Given the description of an element on the screen output the (x, y) to click on. 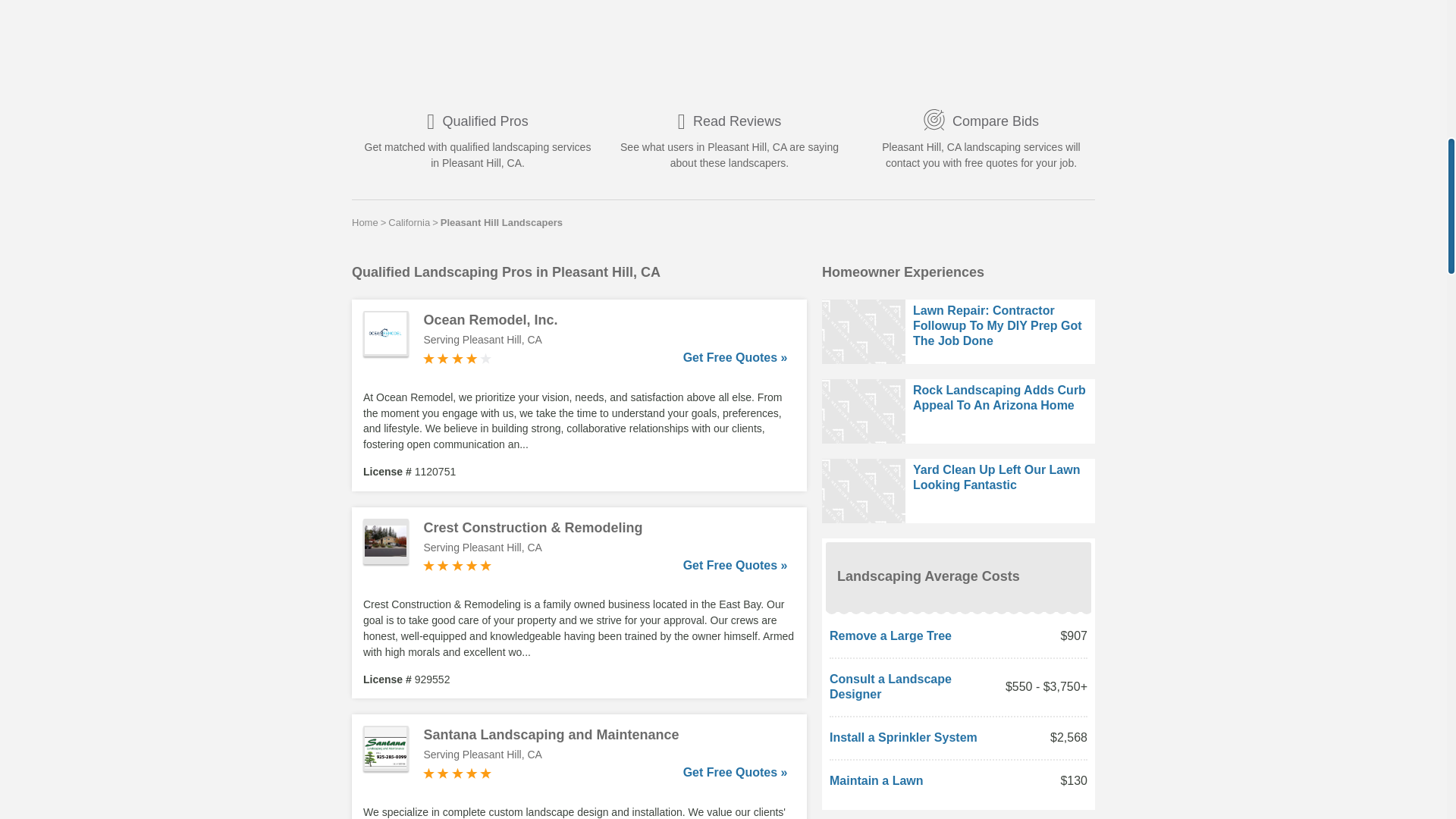
Home (365, 222)
4 star rating (457, 358)
5 star rating (457, 773)
Ocean Remodel, Inc. (605, 320)
5 star rating (457, 565)
California (408, 222)
